Given the description of an element on the screen output the (x, y) to click on. 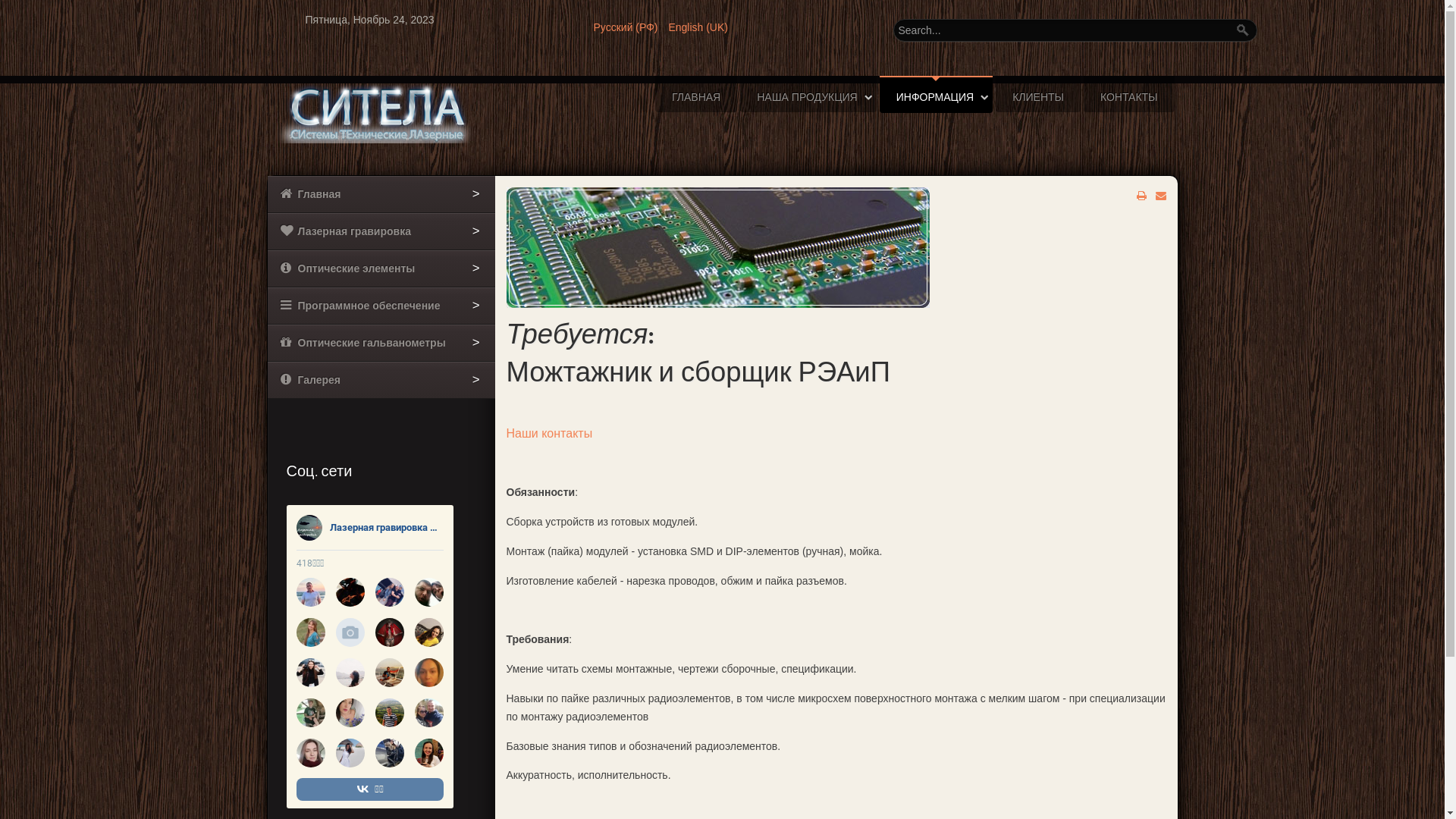
English (UK) Element type: text (698, 27)
E-mail Element type: hover (1160, 195)
